Given the description of an element on the screen output the (x, y) to click on. 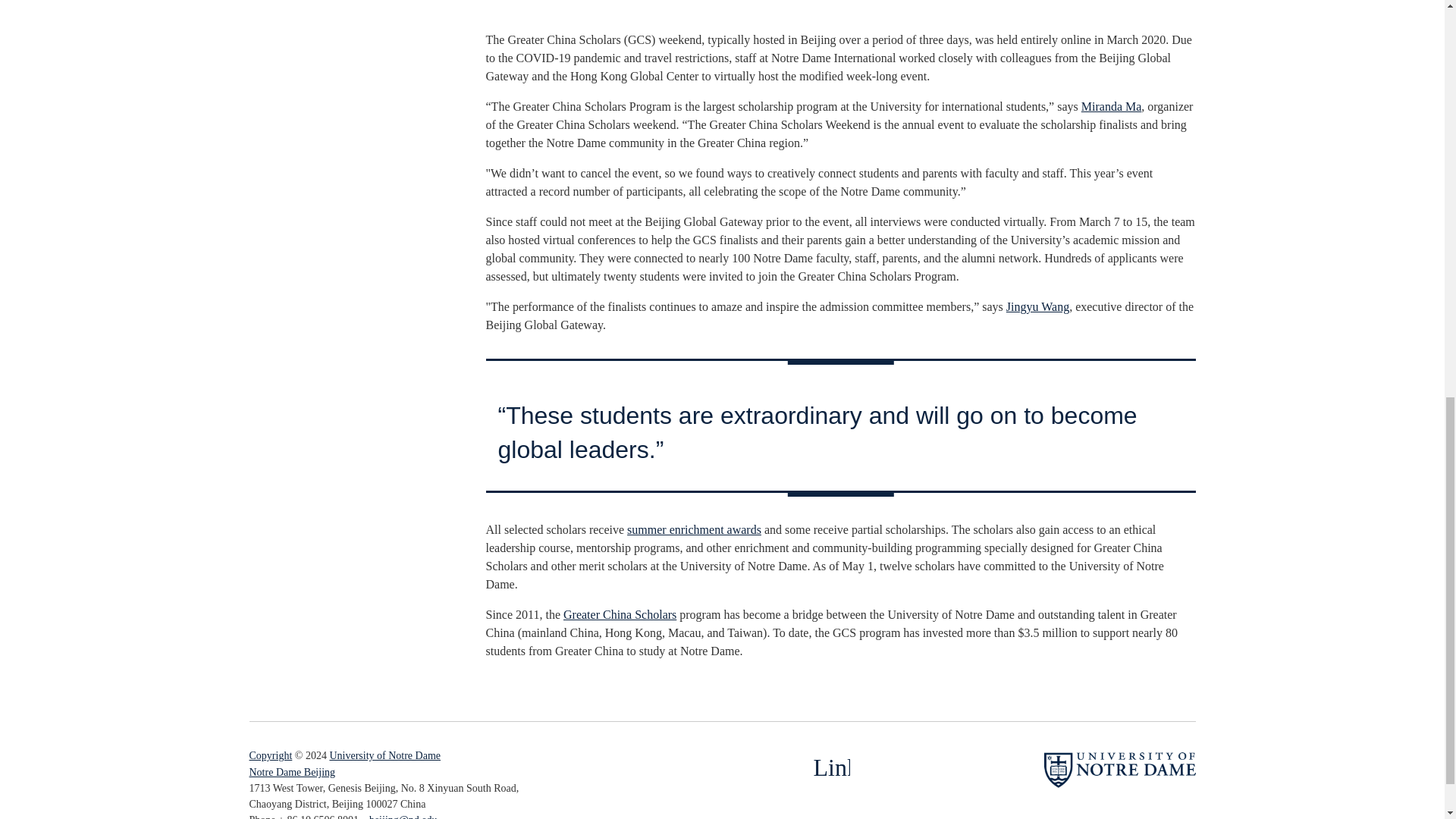
Copyright (270, 755)
summer enrichment awards (694, 529)
Notre Dame Beijing (291, 772)
Jingyu Wang (1037, 306)
Greater China Scholars (620, 614)
Miranda Ma (1111, 106)
University of Notre Dame (385, 755)
